Given the description of an element on the screen output the (x, y) to click on. 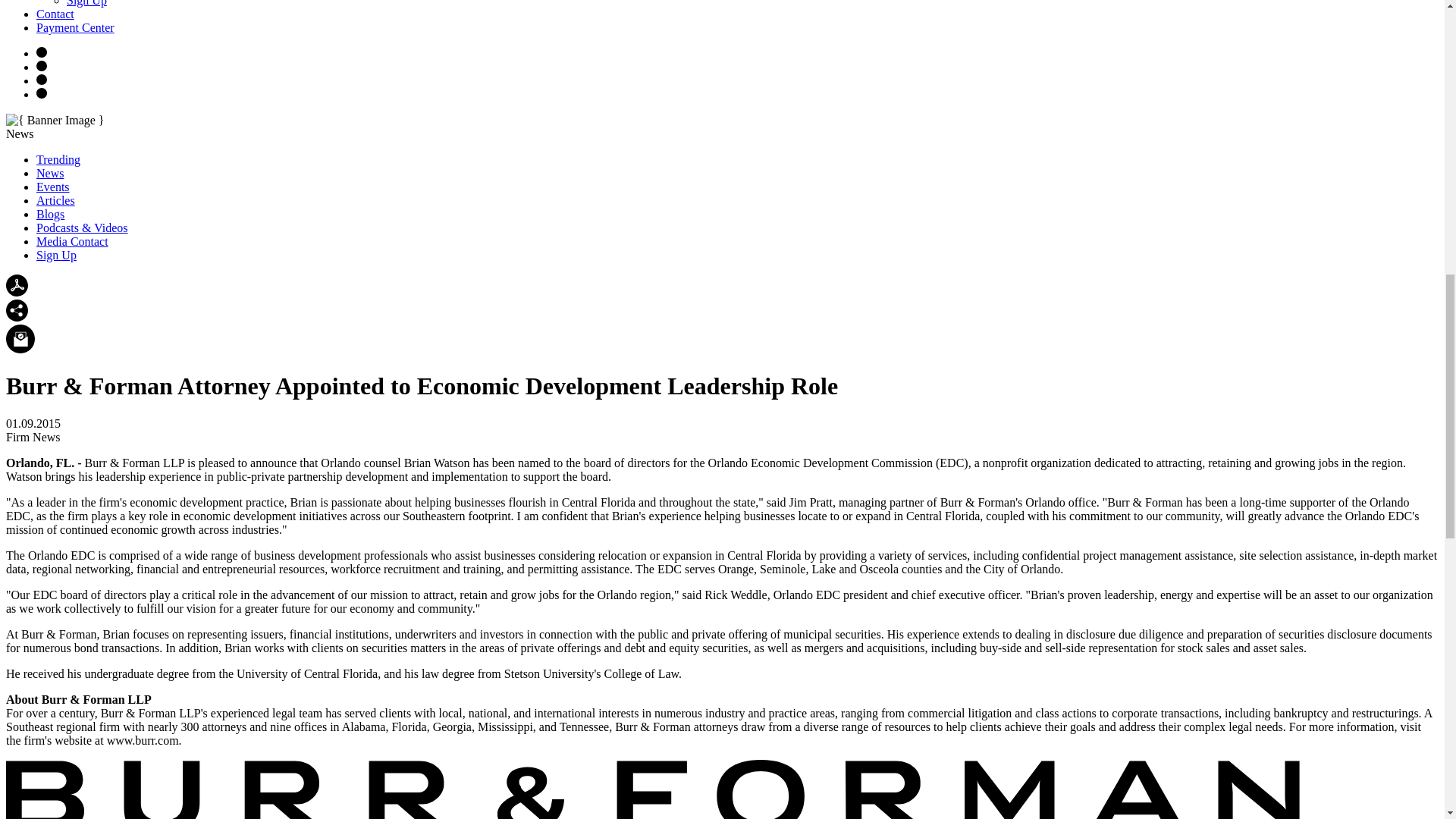
Share (16, 310)
Subscribe (19, 338)
Linkedin (41, 92)
Burr (653, 789)
Share (16, 317)
Print PDF (16, 291)
Instagram (41, 51)
Facebook (41, 65)
PDF (16, 285)
